Given the description of an element on the screen output the (x, y) to click on. 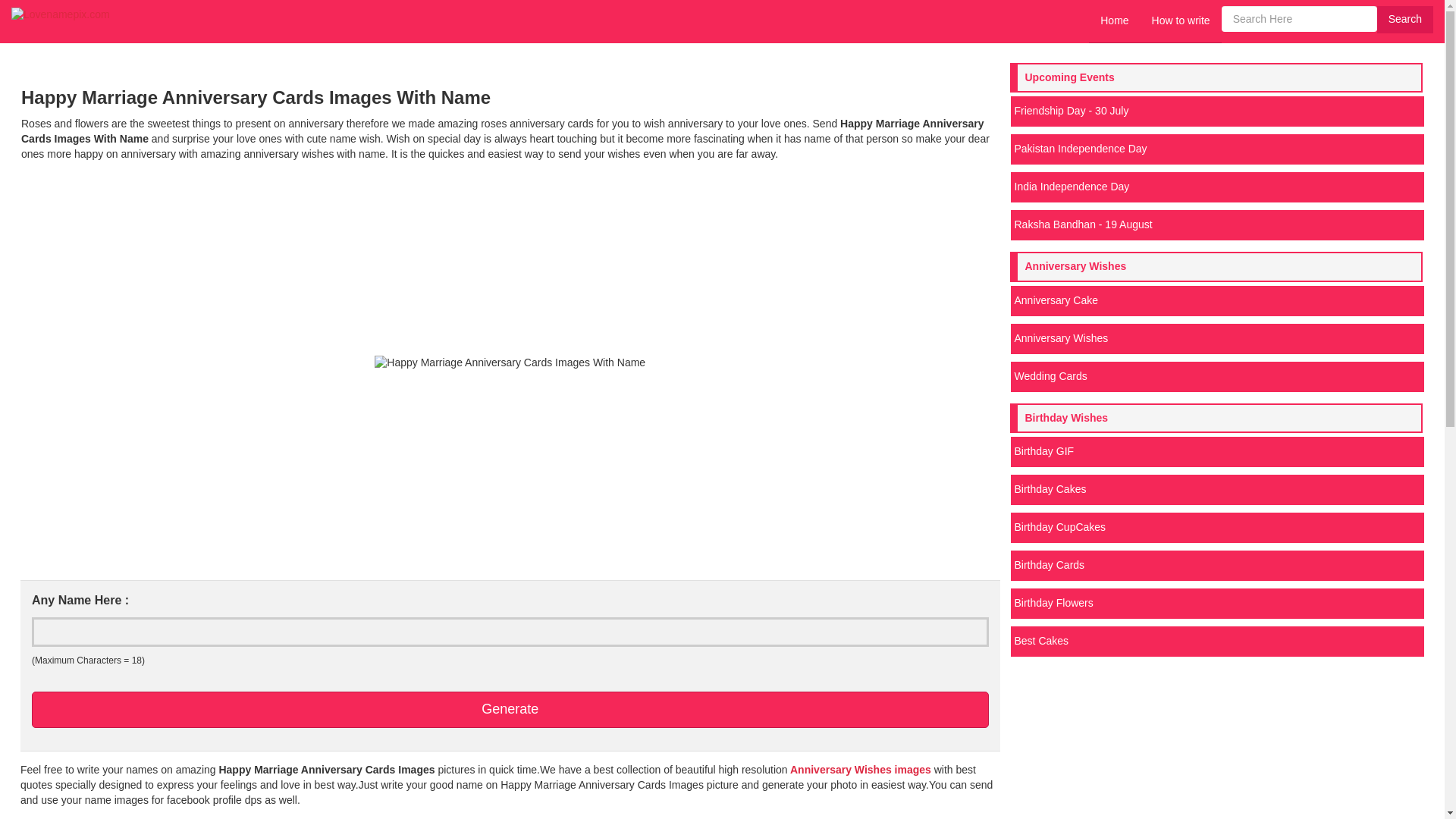
Generate (510, 709)
India Independence Day (1216, 186)
Raksha Bandhan - 19 August (1216, 224)
Anniversary Wishes images (859, 769)
Anniversary Wishes With Name (1216, 338)
How to write (1180, 21)
Home (1114, 21)
Birthday Cakes (1216, 490)
Pakistan Independence Day Wishes With Name (1216, 149)
Birthday Cards (1216, 565)
Best Cakes (1216, 641)
Happy Raksha Bandhan Wishes With Name (1216, 224)
Birthday Cake Name Images (1216, 490)
Pakistan Independence Day (1216, 149)
Anniversary Wishes (1216, 338)
